Given the description of an element on the screen output the (x, y) to click on. 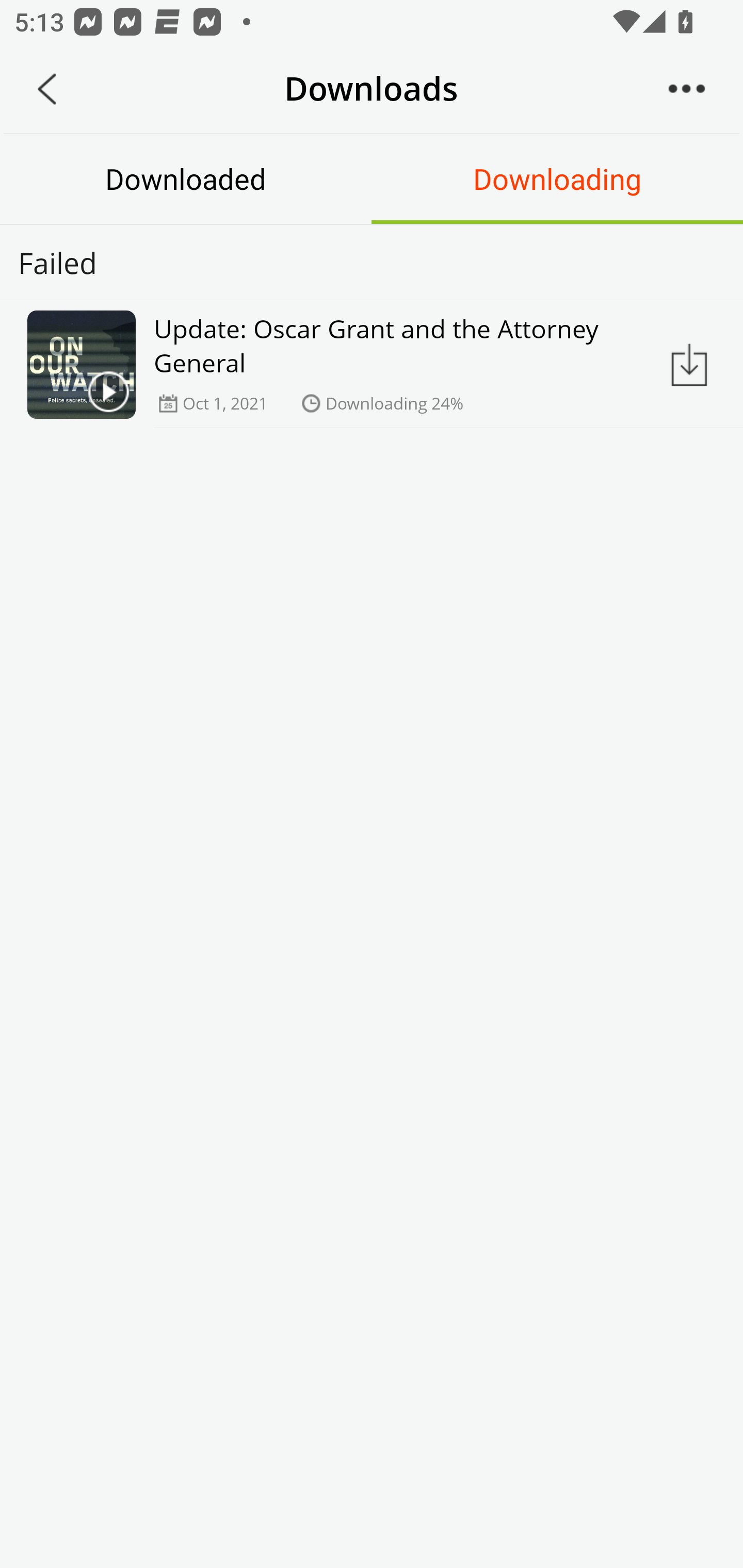
Back (46, 88)
Downloaded (185, 178)
